Given the description of an element on the screen output the (x, y) to click on. 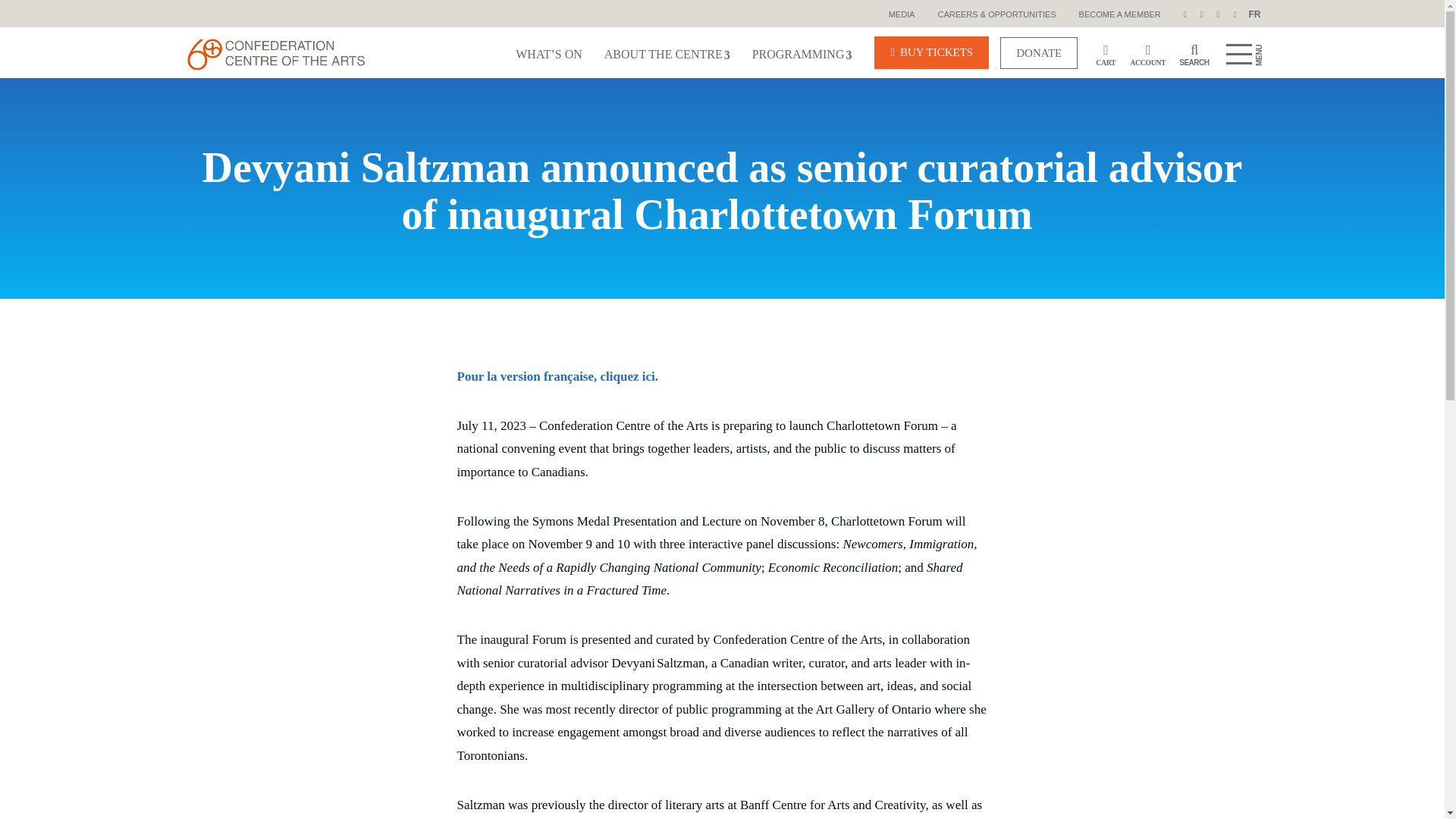
BUY TICKETS (931, 52)
CART (1105, 52)
ABOUT THE CENTRE (667, 52)
French (1253, 14)
MEDIA (901, 13)
PROGRAMMING (802, 52)
SEARCH (1190, 52)
BECOME A MEMBER (1120, 13)
ACCOUNT (1147, 52)
DONATE (1038, 51)
FR (1253, 14)
